Given the description of an element on the screen output the (x, y) to click on. 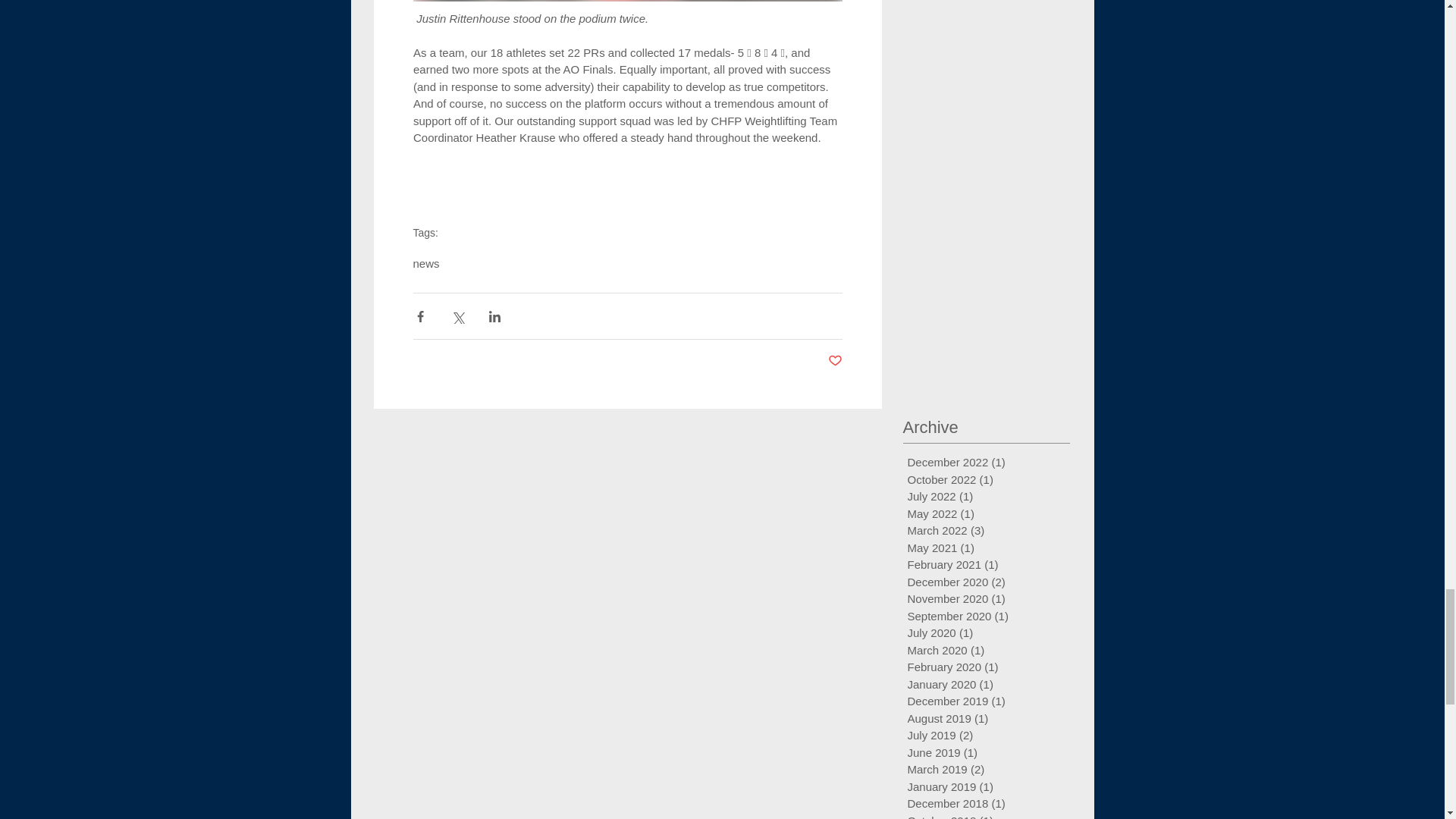
news (425, 263)
Post not marked as liked (835, 360)
